Given the description of an element on the screen output the (x, y) to click on. 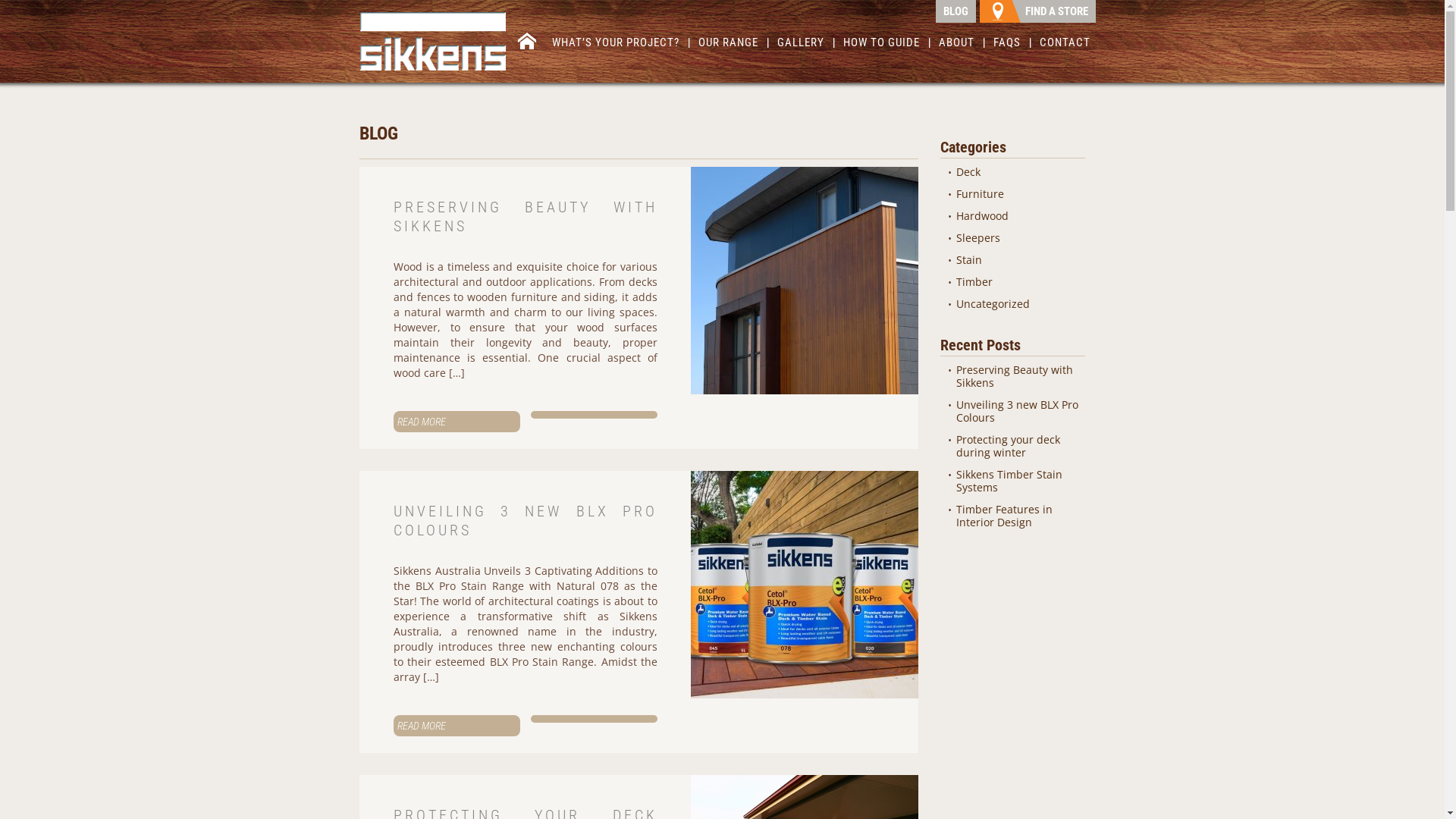
Furniture Element type: text (980, 193)
CONTACT Element type: text (1064, 45)
Preserving Beauty with Sikkens Element type: text (1014, 375)
BLOG Element type: text (955, 11)
Sleepers Element type: text (978, 237)
UNVEILING 3 NEW BLX PRO COLOURS Element type: text (525, 520)
ABOUT Element type: text (956, 45)
Hardwood Element type: text (982, 215)
PRESERVING BEAUTY WITH SIKKENS Element type: text (525, 216)
Sikkens Timber Stain Systems Element type: text (1009, 480)
READ MORE Element type: text (456, 725)
HOW TO GUIDE Element type: text (881, 45)
Timber Features in Interior Design Element type: text (1004, 515)
Stain Element type: text (969, 259)
HOME Element type: text (526, 43)
FAQS Element type: text (1006, 45)
Uncategorized Element type: text (992, 303)
GALLERY Element type: text (800, 45)
READ MORE Element type: text (456, 421)
OUR RANGE Element type: text (728, 45)
Sikkens Premium Woodcare Element type: text (432, 41)
Unveiling 3 new BLX Pro Colours Element type: text (1017, 410)
Protecting your deck during winter Element type: text (1008, 445)
Timber Element type: text (974, 281)
FIND A STORE Element type: text (1037, 11)
Deck Element type: text (968, 171)
